Given the description of an element on the screen output the (x, y) to click on. 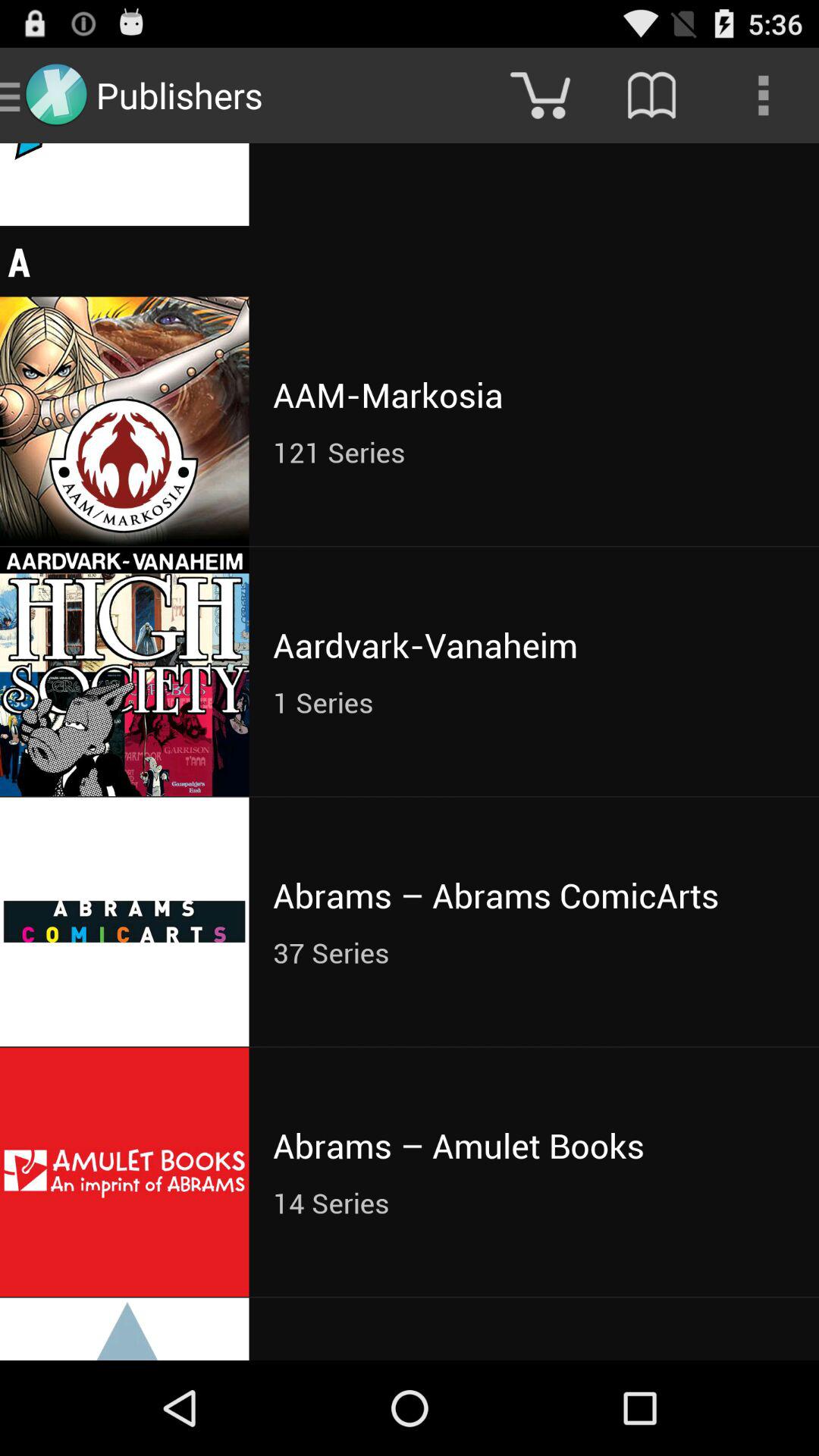
press aardvark-vanaheim item (534, 644)
